Given the description of an element on the screen output the (x, y) to click on. 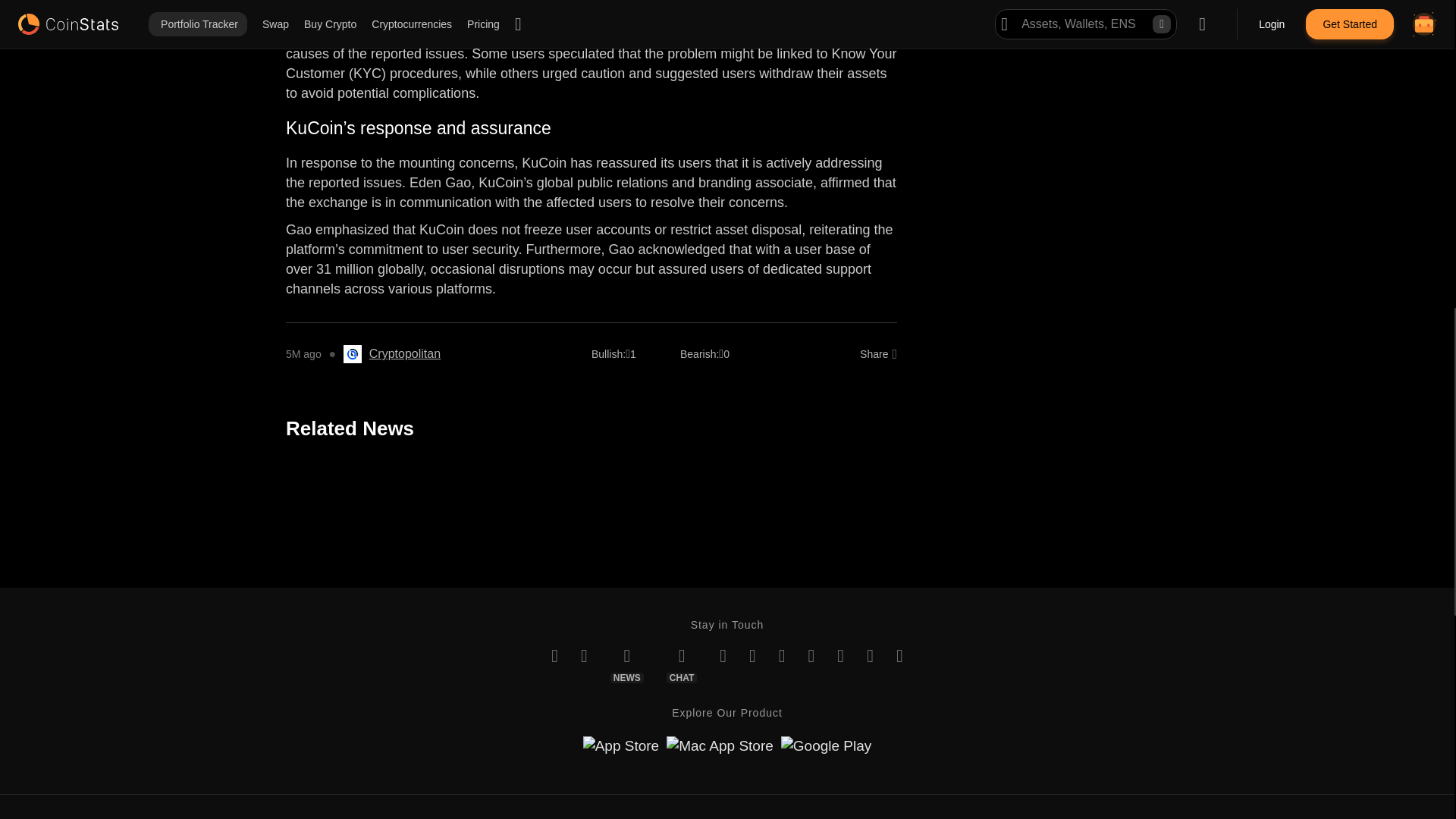
posts (370, 33)
bearish (699, 353)
bullish (608, 353)
Cryptopolitan (405, 353)
